Given the description of an element on the screen output the (x, y) to click on. 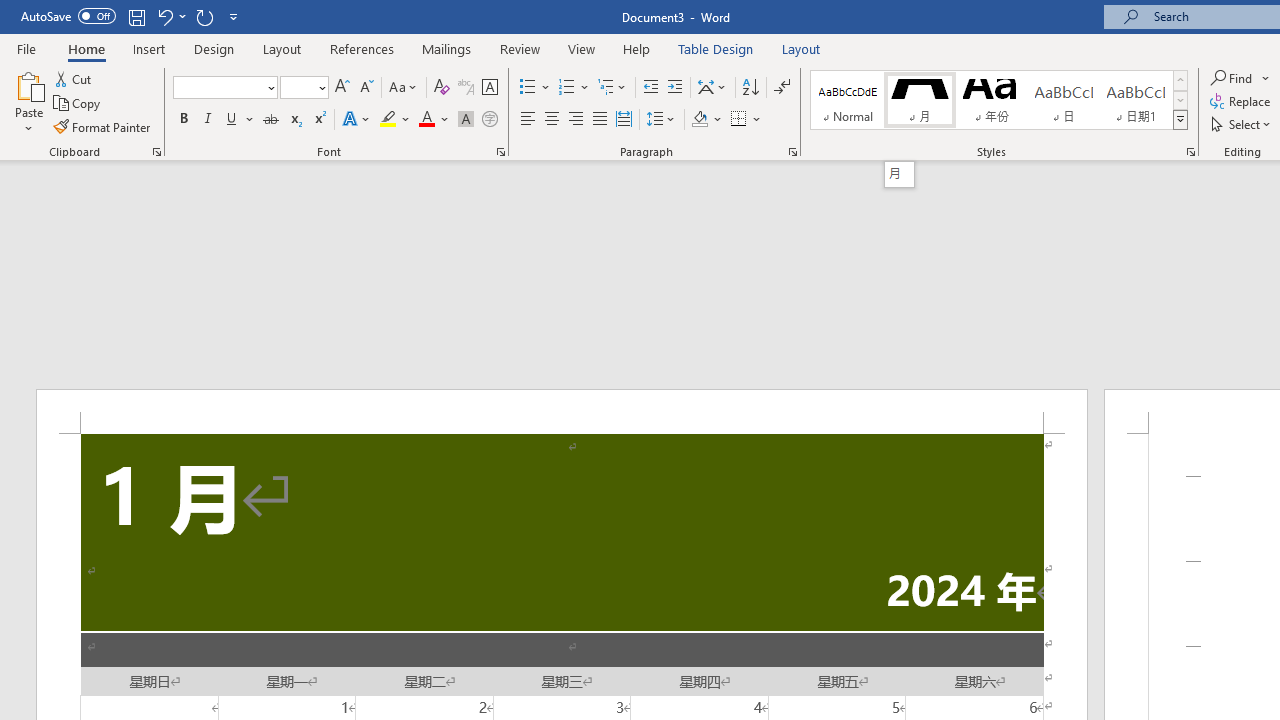
Italic (207, 119)
Styles (1179, 120)
Open (320, 87)
Shading RGB(0, 0, 0) (699, 119)
Paragraph... (792, 151)
Text Highlight Color (395, 119)
Decrease Indent (650, 87)
Phonetic Guide... (465, 87)
Format Painter (103, 126)
